Given the description of an element on the screen output the (x, y) to click on. 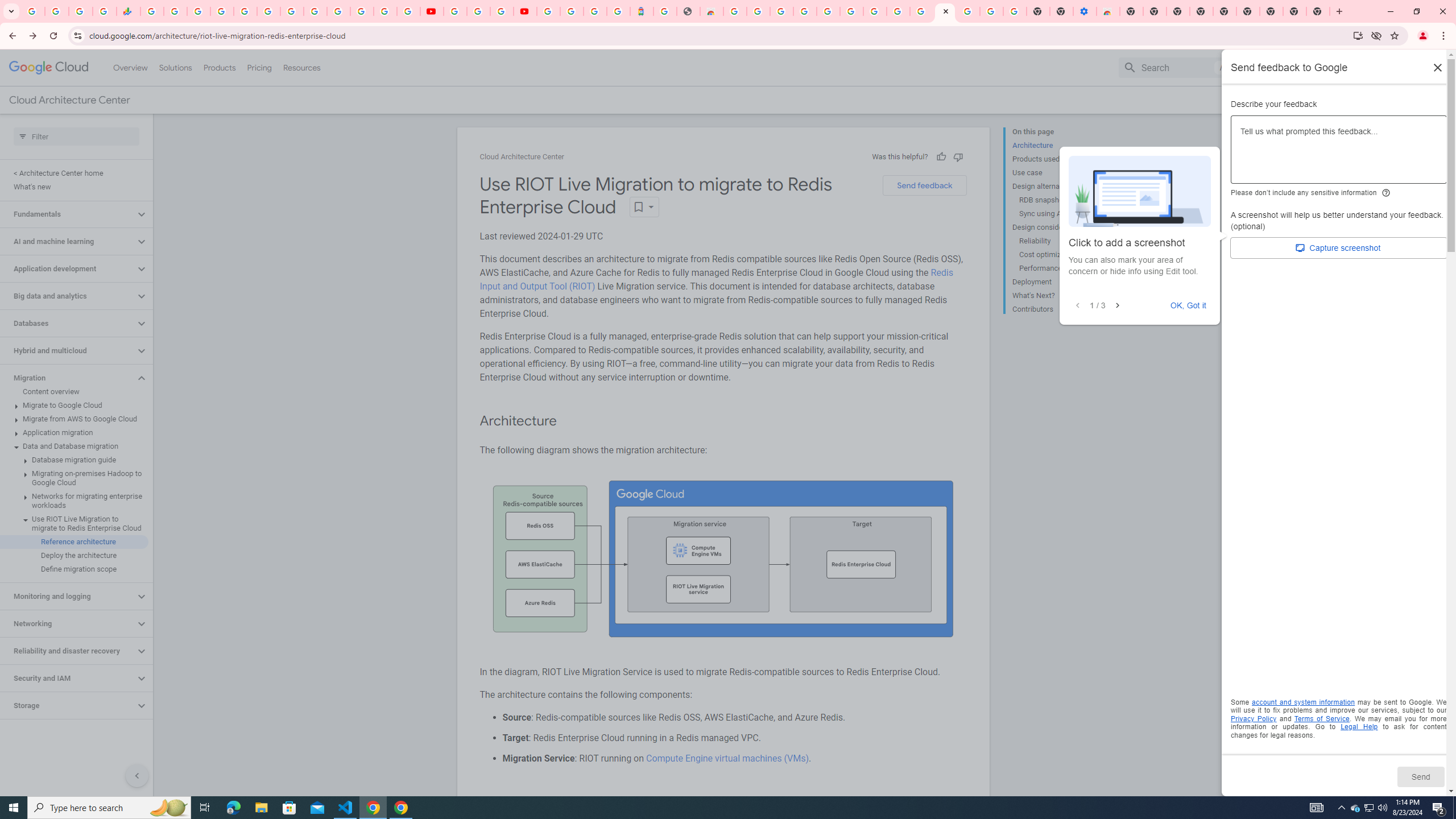
Sign in - Google Accounts (571, 11)
Products (218, 67)
Type to filter (76, 136)
Contributors (1058, 307)
Sign in - Google Accounts (968, 11)
Create your Google Account (501, 11)
Performance (1062, 268)
Data and Database migration (74, 445)
Resources (301, 67)
Google Cloud (48, 67)
Application migration (74, 432)
